Given the description of an element on the screen output the (x, y) to click on. 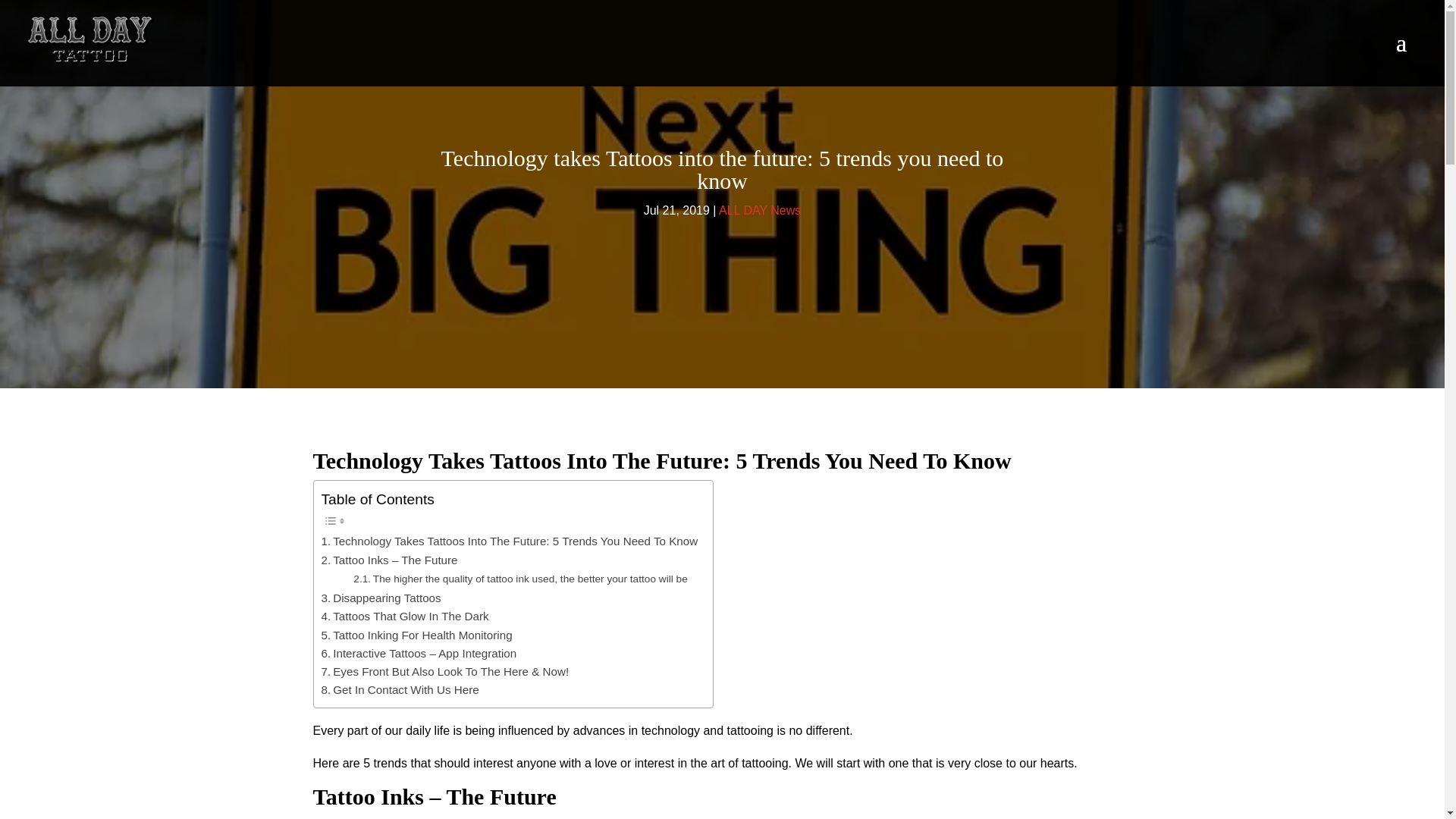
Tattoos That Glow In The Dark (405, 616)
Tattoo Inking For Health Monitoring (416, 635)
ALL DAY News (759, 210)
Get In Contact With Us Here (400, 689)
Disappearing Tattoos (381, 597)
Tattoos That Glow In The Dark (405, 616)
Get In Contact With Us Here (400, 689)
Tattoo Inking For Health Monitoring (416, 635)
